Given the description of an element on the screen output the (x, y) to click on. 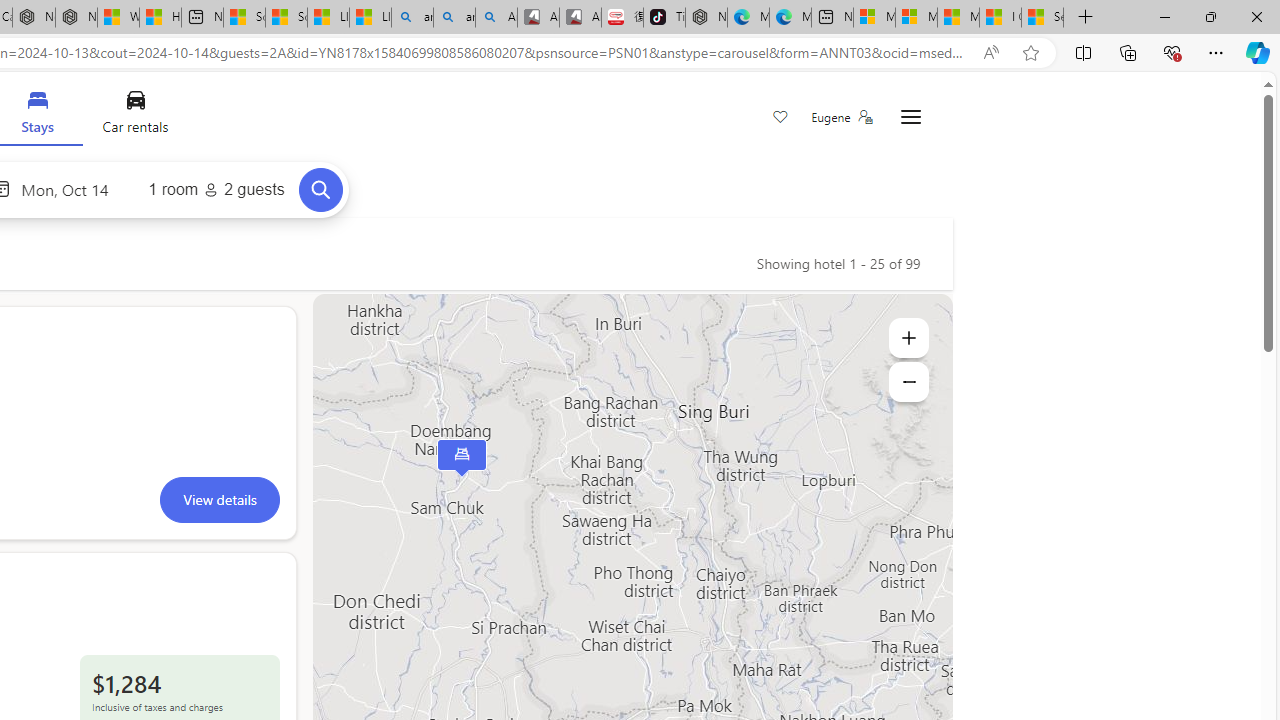
Car rentals (134, 116)
Zoom out (908, 381)
Save (780, 118)
I Gained 20 Pounds of Muscle in 30 Days! | Watch (1000, 17)
Save (780, 118)
